Given the description of an element on the screen output the (x, y) to click on. 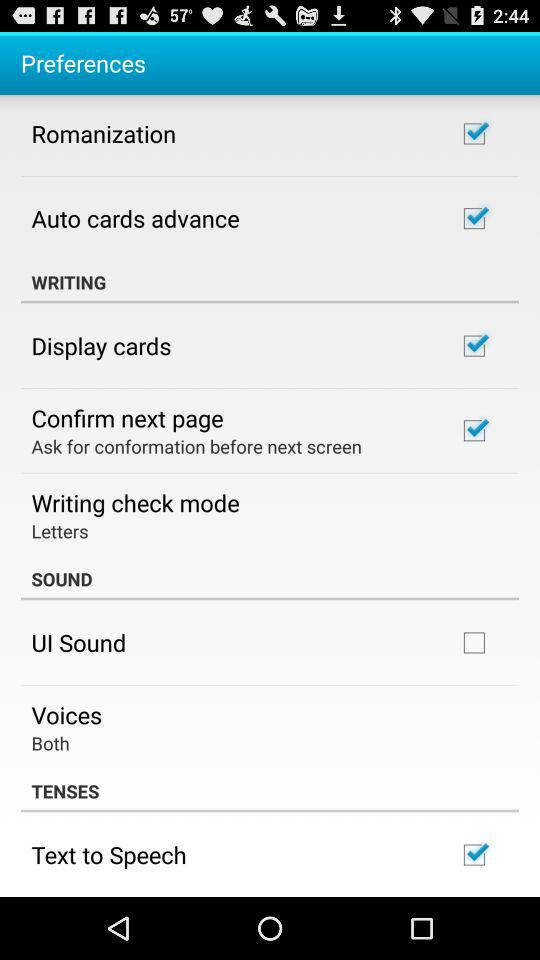
swipe until the ui sound app (78, 642)
